Given the description of an element on the screen output the (x, y) to click on. 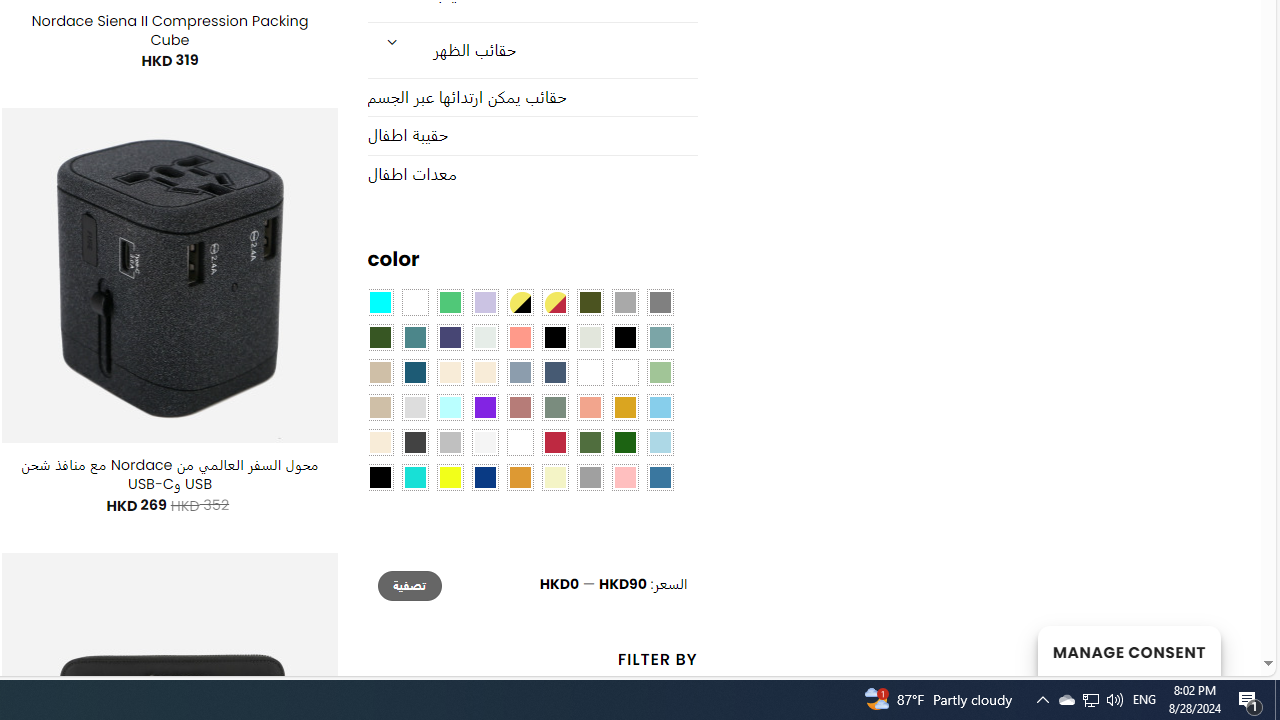
Nordace Siena II Compression Packing Cube (169, 29)
Purple (484, 408)
All Black (554, 337)
